Given the description of an element on the screen output the (x, y) to click on. 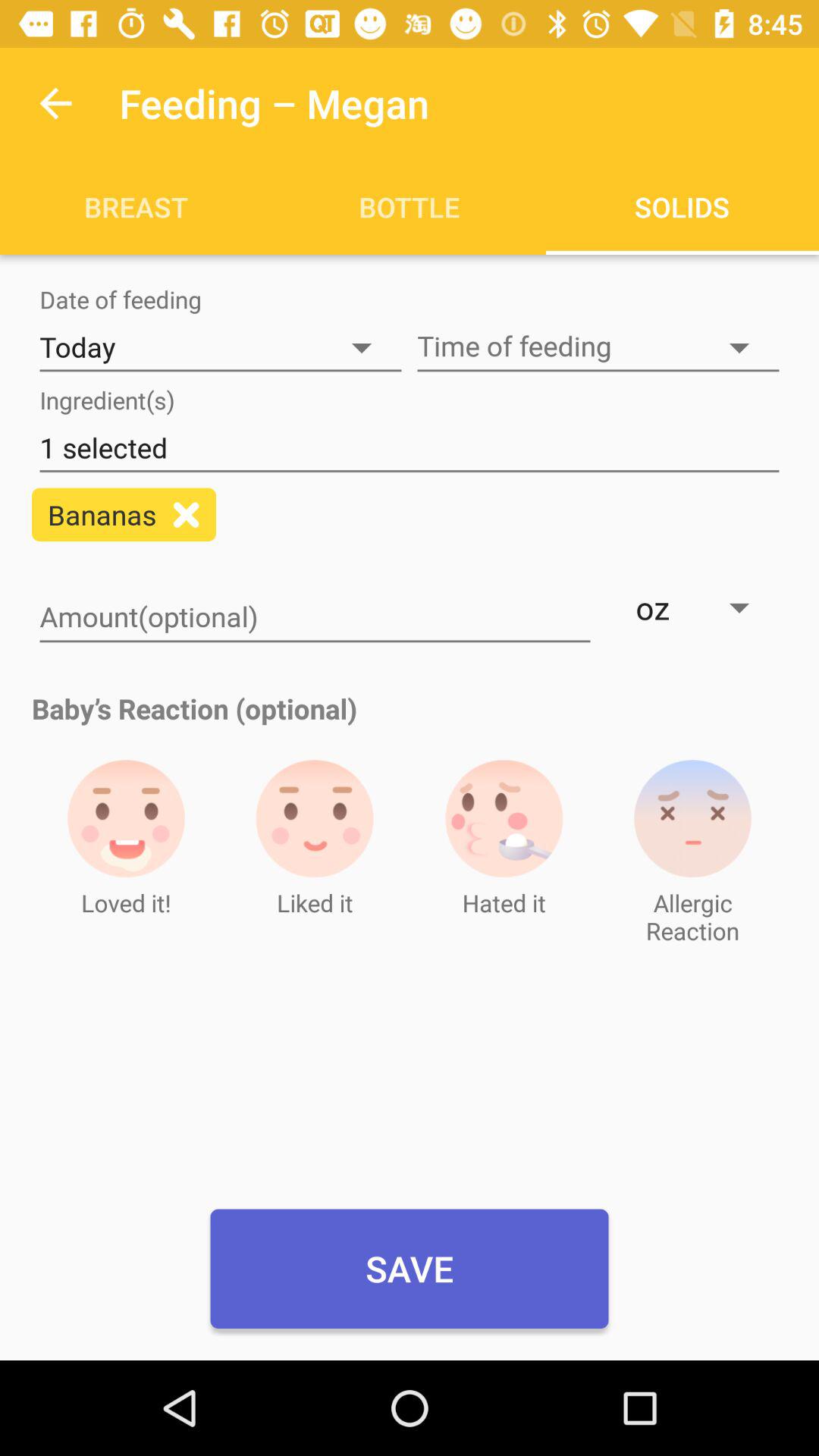
launch icon to the left of the oz item (314, 618)
